Given the description of an element on the screen output the (x, y) to click on. 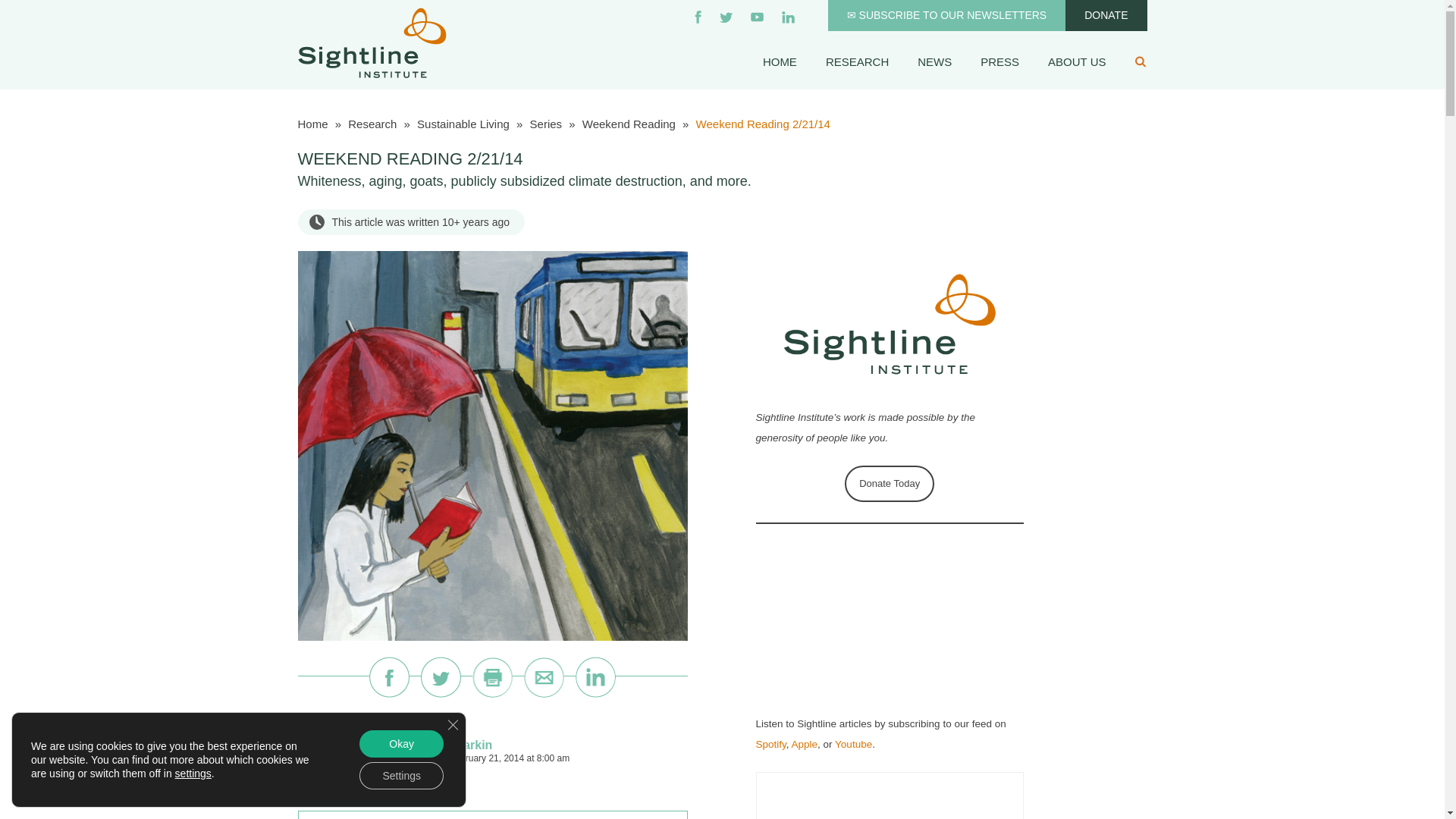
Twitter (725, 17)
HOME (779, 61)
DONATE (1106, 15)
Facebook (697, 17)
PRESS (999, 61)
Share This Post on LinkedIN (595, 676)
NEWS (934, 61)
ABOUT US (1076, 61)
Sightline Institute (371, 41)
RESEARCH (856, 61)
YouTube (756, 17)
Share This Post by Email (544, 676)
LinkedIn (787, 17)
